Given the description of an element on the screen output the (x, y) to click on. 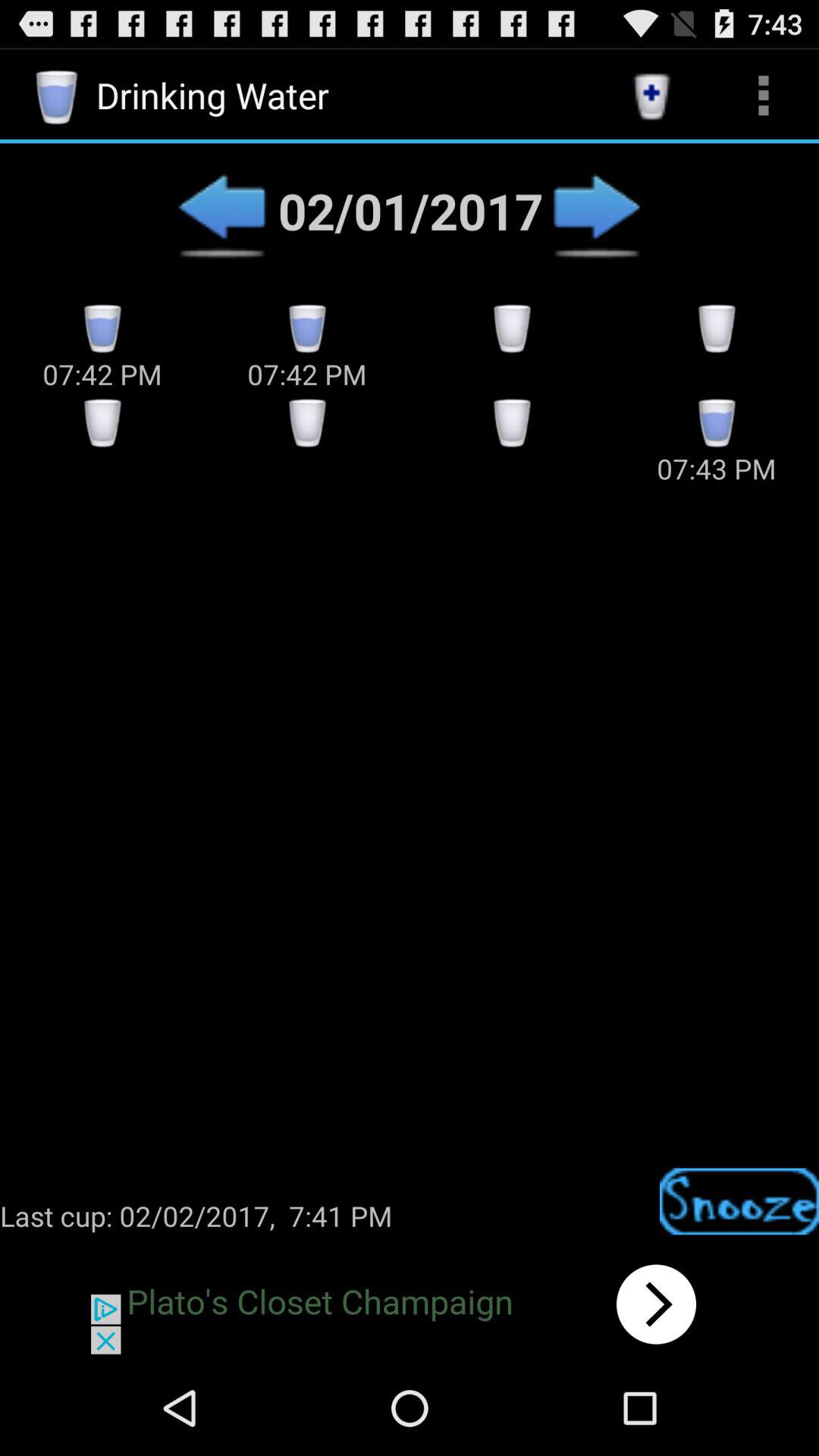
go to next (409, 1304)
